Given the description of an element on the screen output the (x, y) to click on. 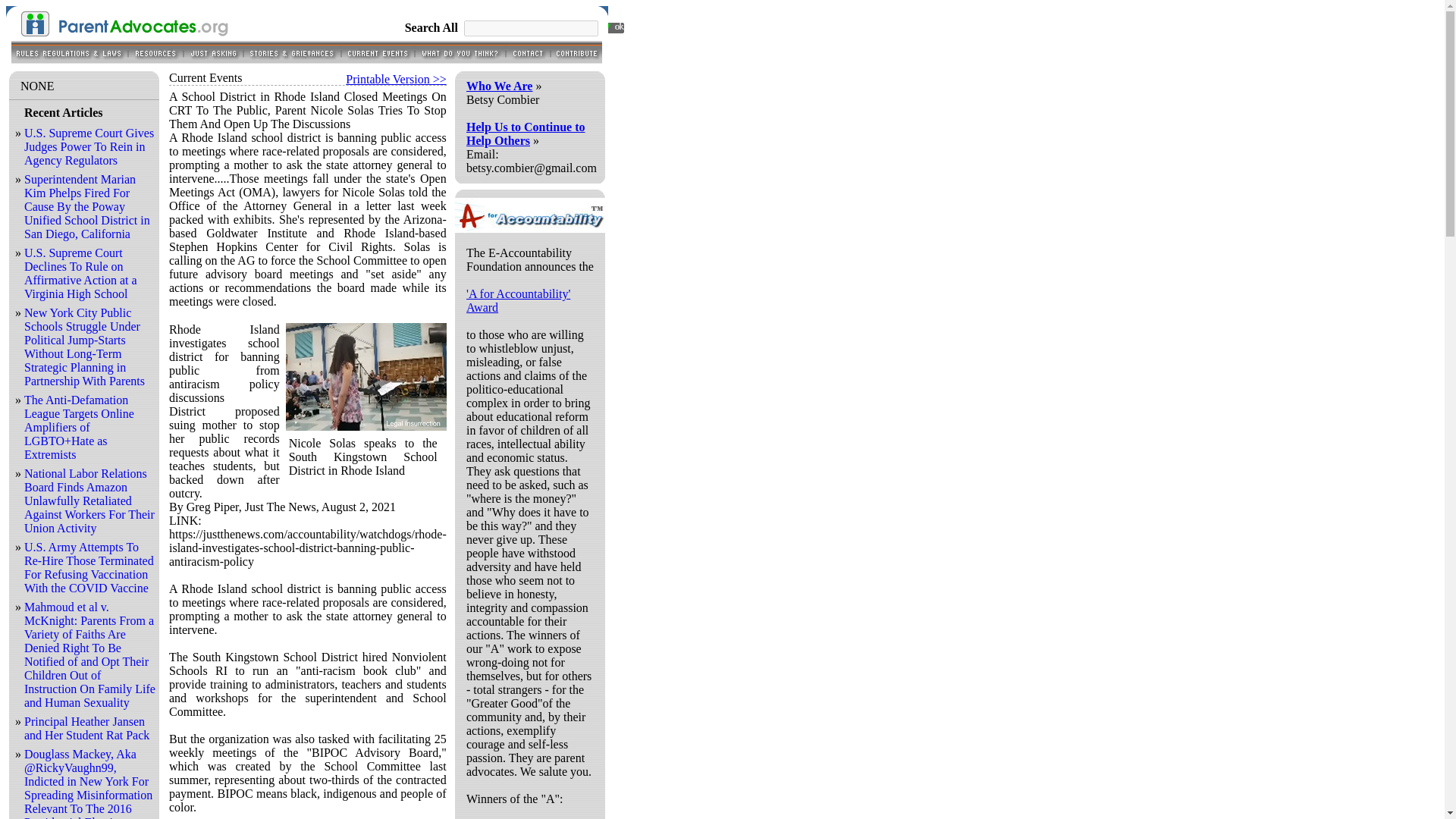
Principal Heather Jansen and Her Student Rat Pack (86, 728)
Who We Are (498, 85)
'A for Accountability' Award (517, 300)
ok (614, 27)
Help Us to Continue to Help Others (525, 133)
